Given the description of an element on the screen output the (x, y) to click on. 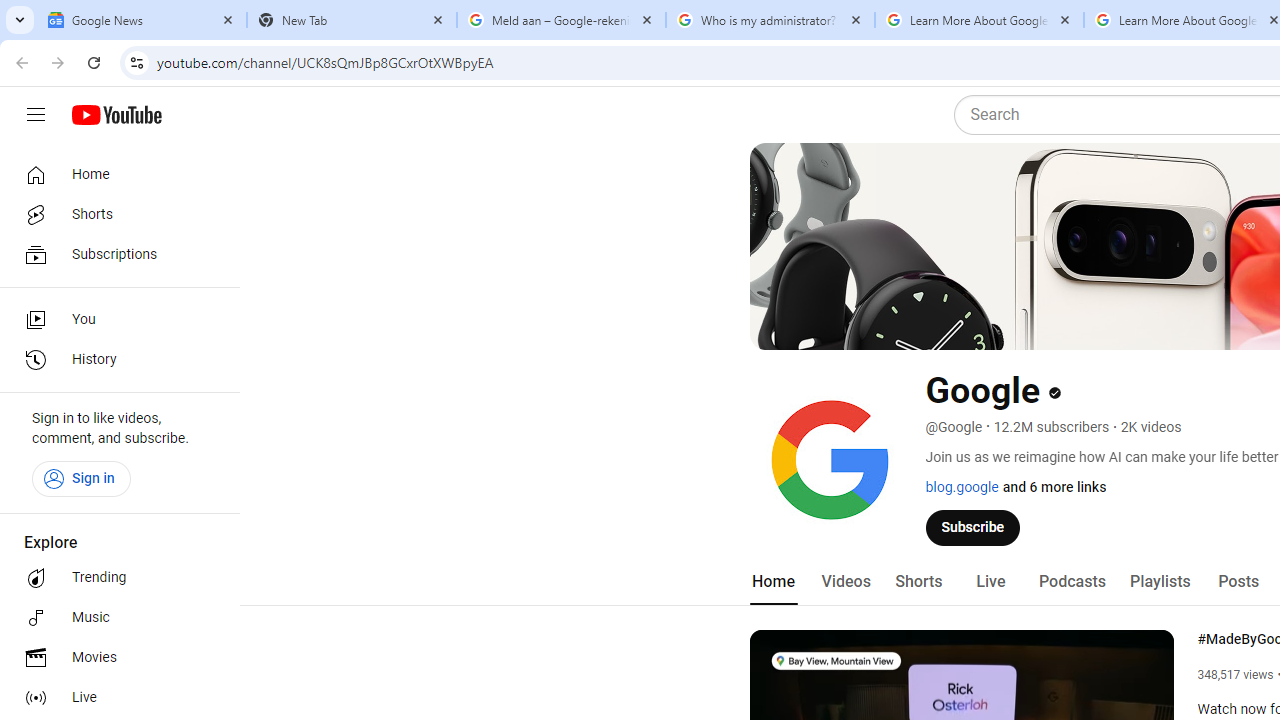
New Tab (351, 20)
Guide (35, 115)
Shorts (918, 581)
Shorts (113, 214)
